Given the description of an element on the screen output the (x, y) to click on. 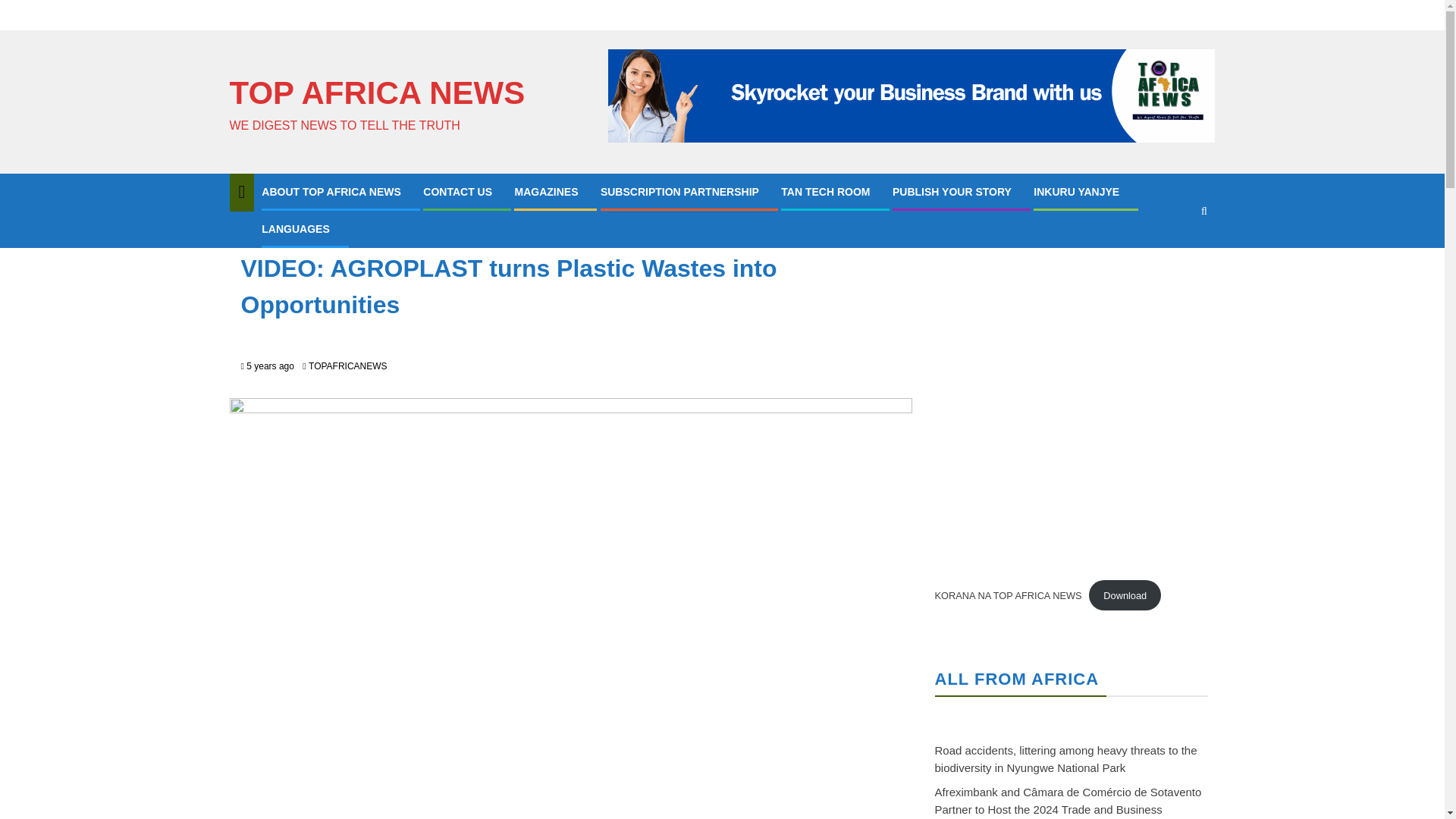
Search (1204, 210)
TOP AFRICA NEWS (376, 92)
ABOUT TOP AFRICA NEWS (331, 191)
WED2019 (330, 233)
CONTACT US (457, 191)
PUBLISH YOUR STORY (951, 191)
LANGUAGES (295, 228)
MAGAZINES (545, 191)
SUBSCRIPTION PARTNERSHIP (678, 191)
TOPAFRICANEWS (347, 366)
INKURU YANJYE (1076, 191)
TAN TECH ROOM (824, 191)
Environment (271, 233)
Search (1174, 256)
